Given the description of an element on the screen output the (x, y) to click on. 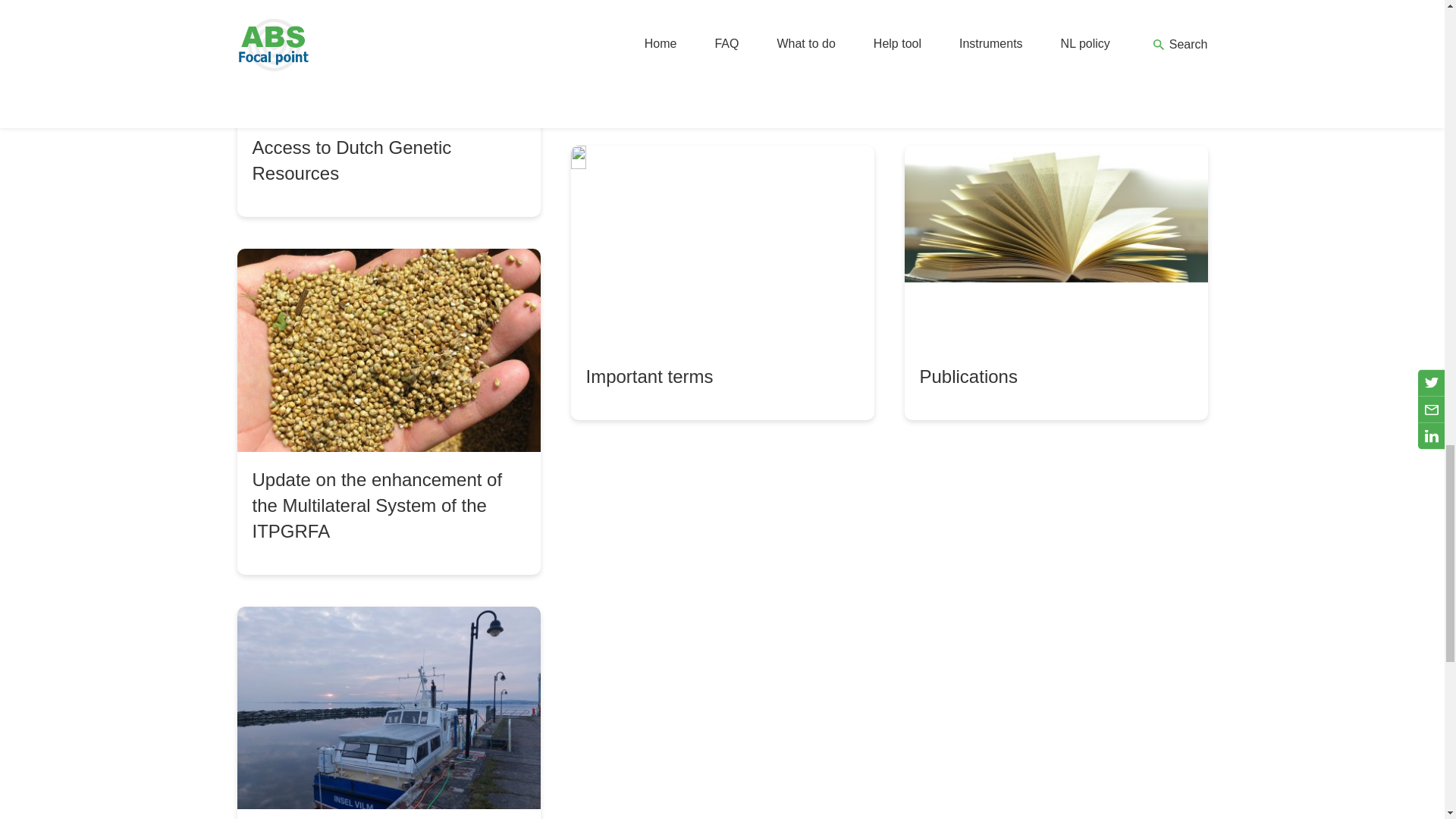
Access to Dutch Genetic Resources (387, 108)
Access to Dutch Genetic Resources (387, 108)
Important terms (721, 282)
Publications (1055, 282)
More about the ABS Focal Point (721, 56)
More about the ABS Focal Point (721, 56)
Presentations (1055, 56)
Important terms (721, 282)
